Given the description of an element on the screen output the (x, y) to click on. 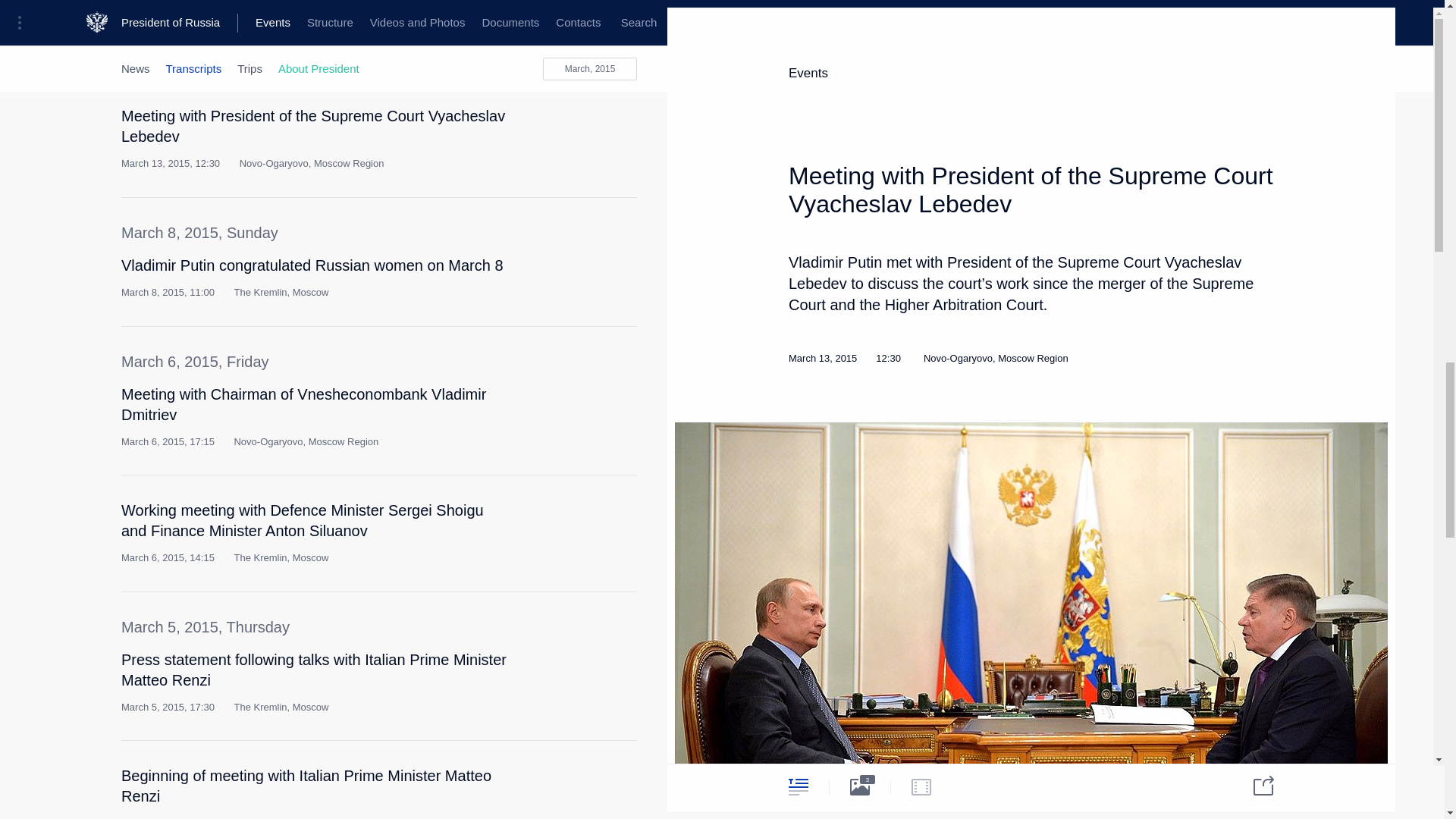
Text of the article (549, 515)
Text of the article (549, 121)
Text of the article (549, 665)
Text of the article (549, 400)
Text of the article (549, 1)
Text of the article (549, 271)
